Given the description of an element on the screen output the (x, y) to click on. 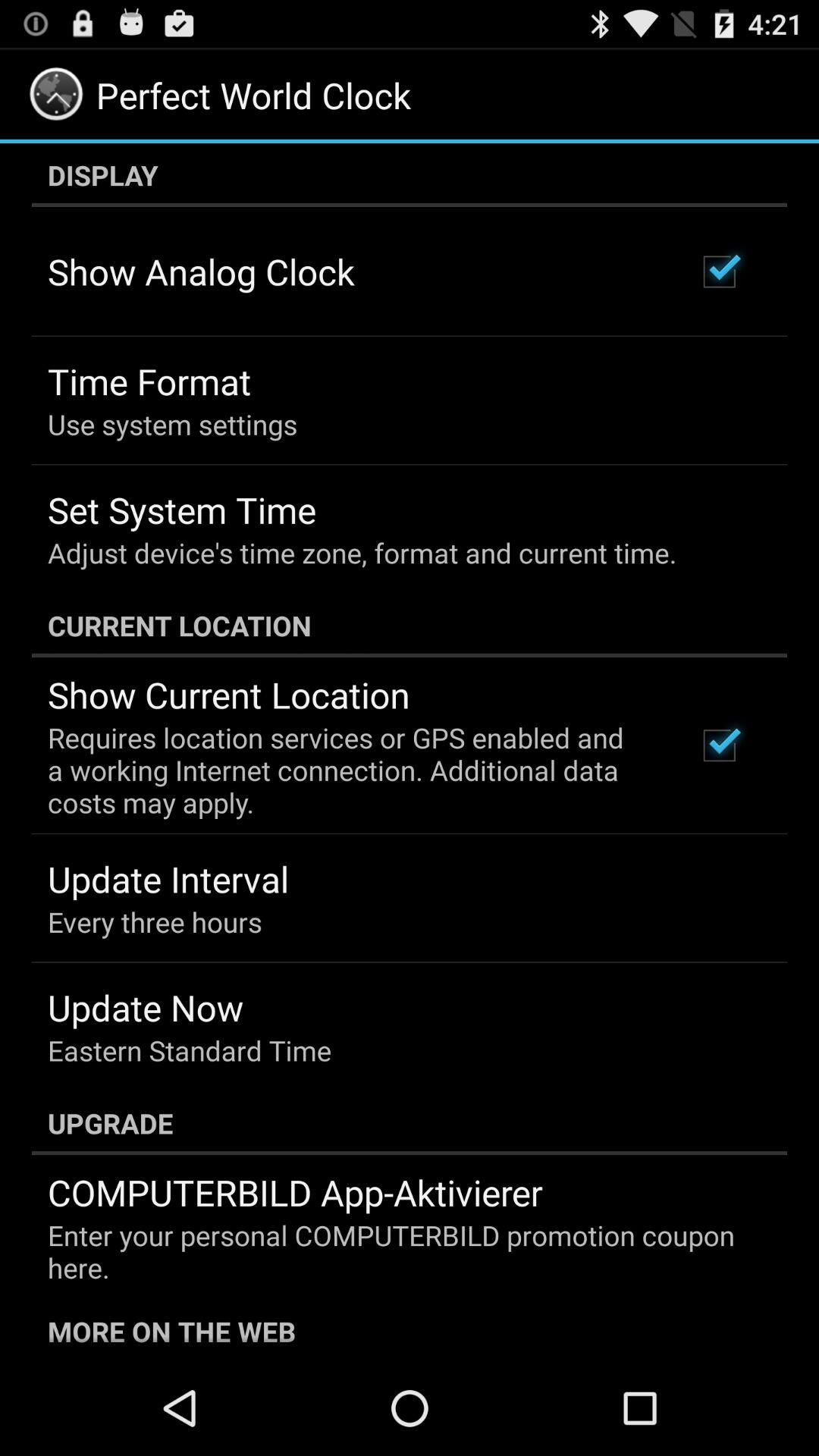
turn off the app below the update now app (189, 1050)
